Given the description of an element on the screen output the (x, y) to click on. 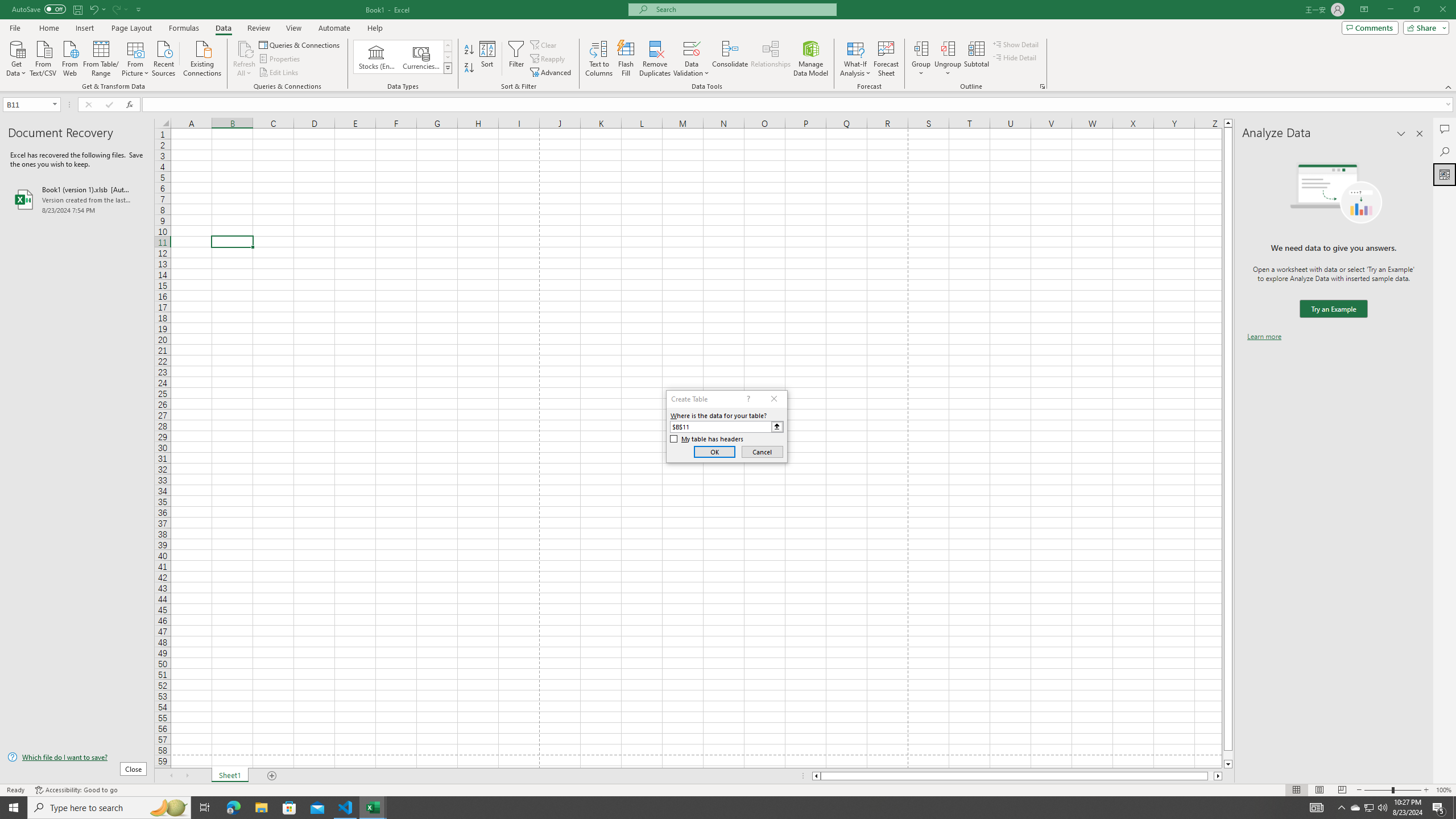
Sort A to Z (469, 49)
Filter (515, 58)
Manage Data Model (810, 58)
From Web (69, 57)
Group and Outline Settings (1042, 85)
Properties (280, 58)
Text to Columns... (598, 58)
